Given the description of an element on the screen output the (x, y) to click on. 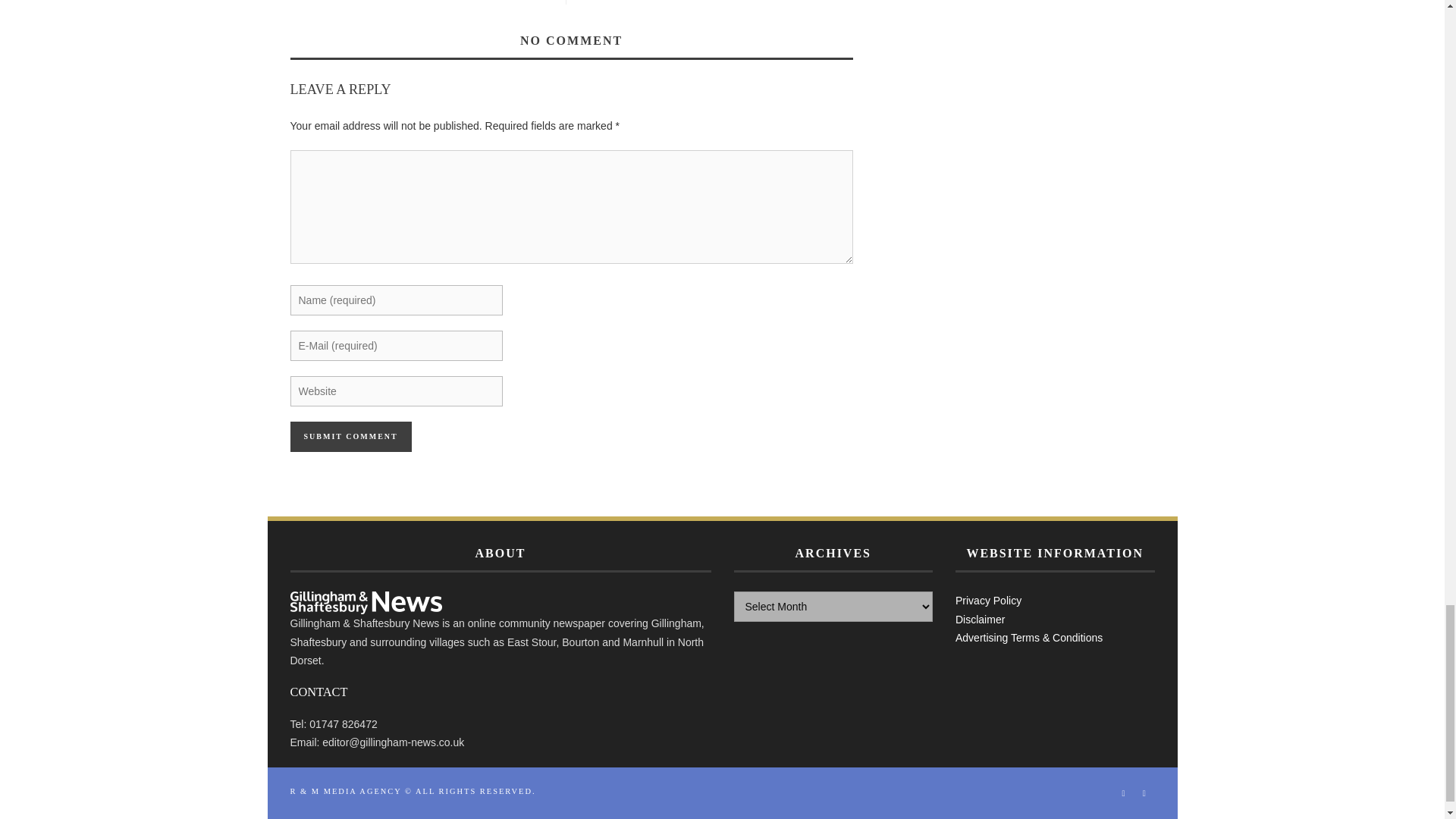
Submit comment (349, 436)
Facebook (1123, 793)
Twitter (1144, 793)
